Given the description of an element on the screen output the (x, y) to click on. 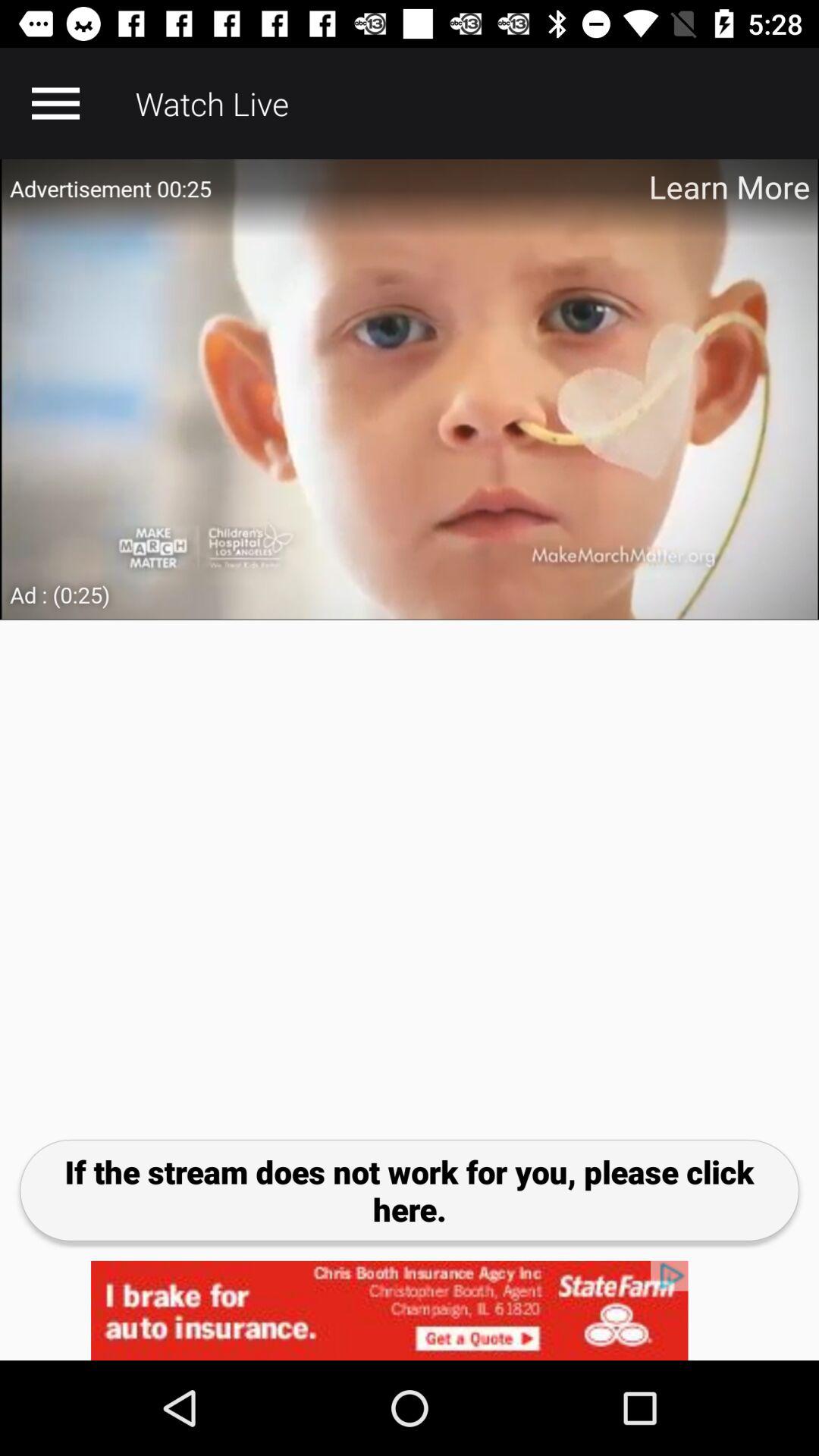
advertisement image (409, 389)
